Given the description of an element on the screen output the (x, y) to click on. 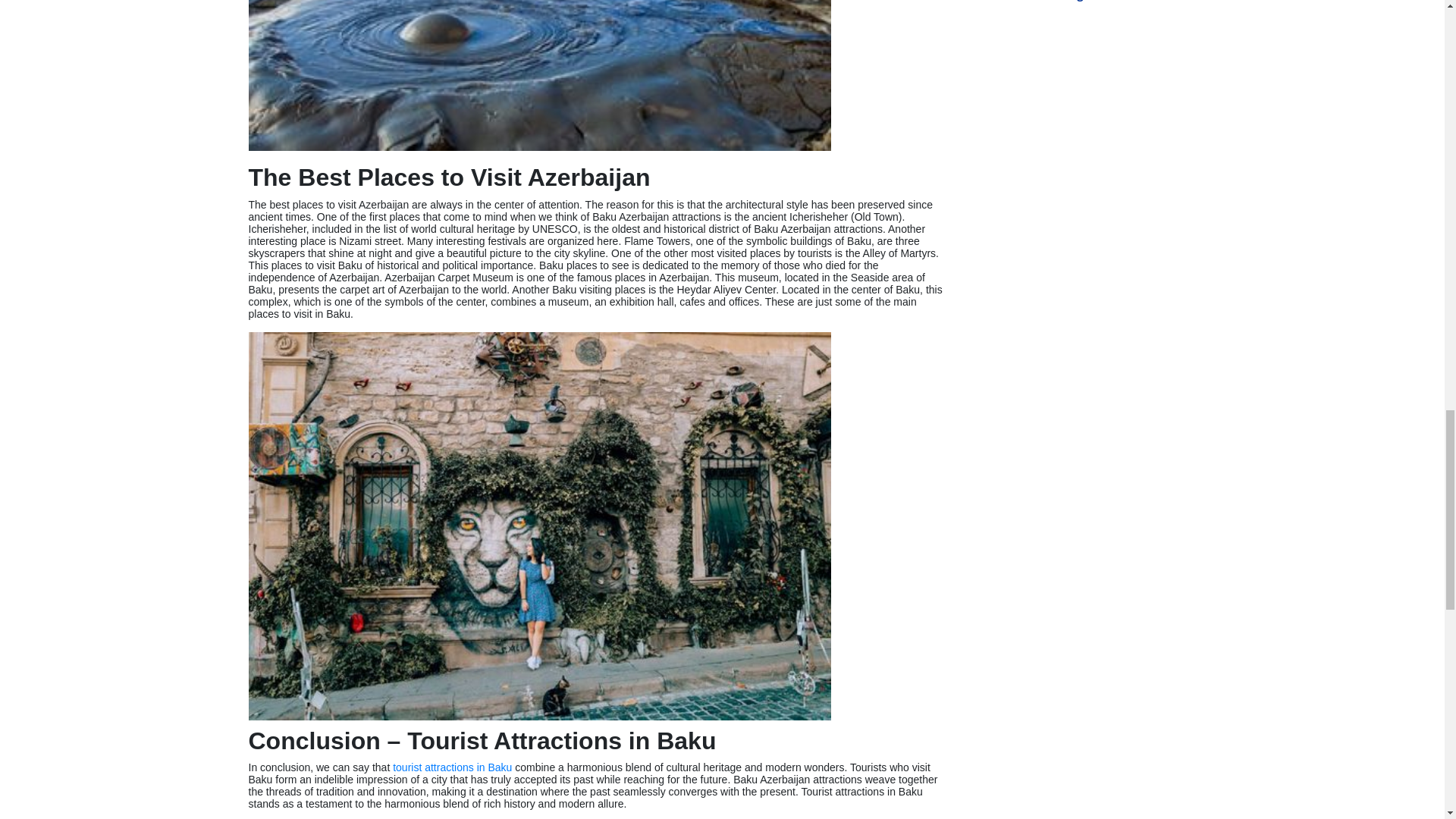
Ticketing (1055, 11)
tourist attractions in Baku (452, 767)
